Given the description of an element on the screen output the (x, y) to click on. 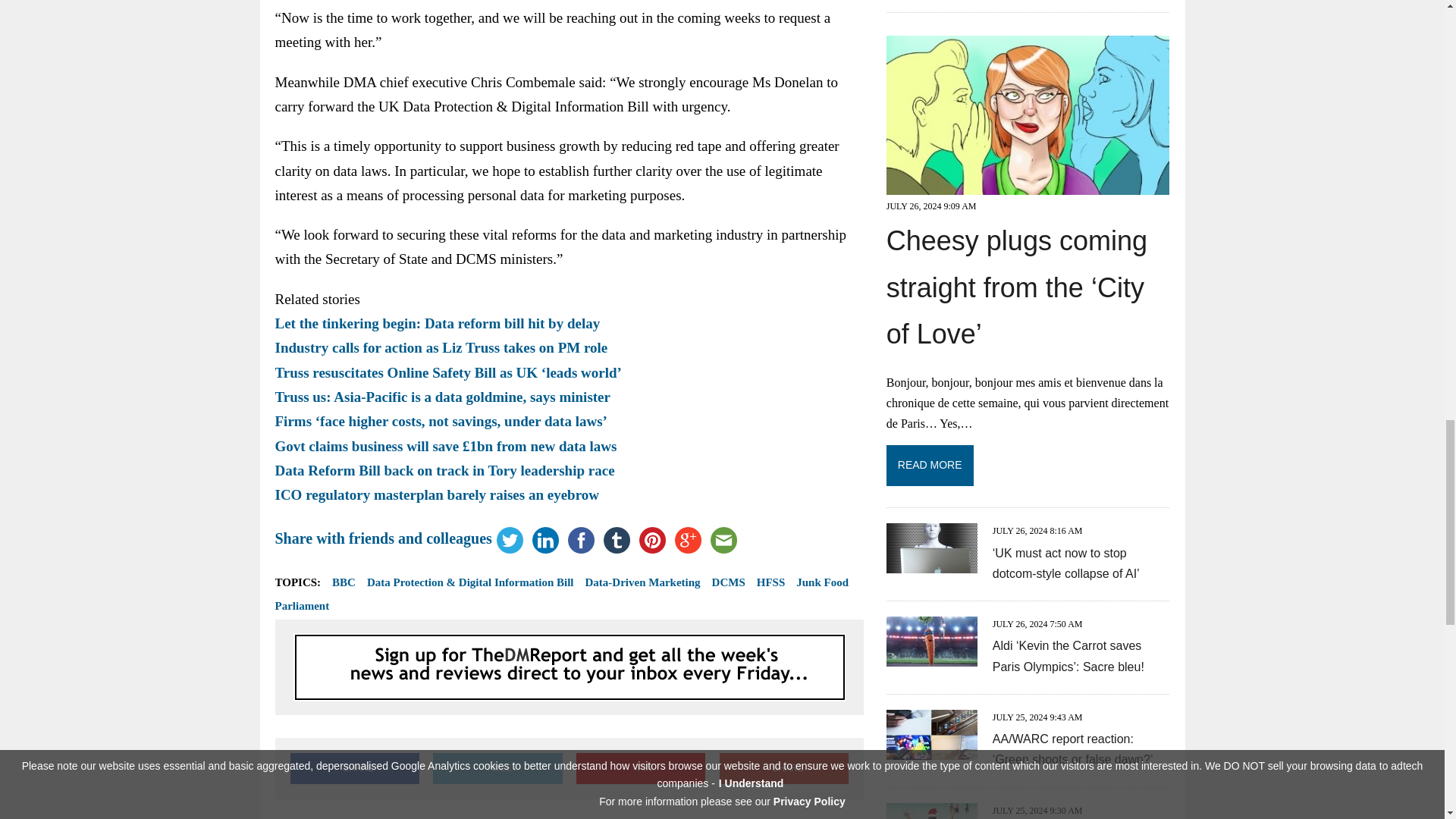
Twitter (509, 539)
Tweet This Post (497, 767)
tumblr (616, 539)
Pinterest (651, 539)
Pin This Post (640, 767)
LinkedIn (545, 539)
Facebook (580, 539)
Industry calls for action as Liz Truss takes on PM role (441, 347)
Let the tinkering begin: Data reform bill hit by delay (437, 323)
Share on Facebook (354, 767)
Email (723, 539)
